Given the description of an element on the screen output the (x, y) to click on. 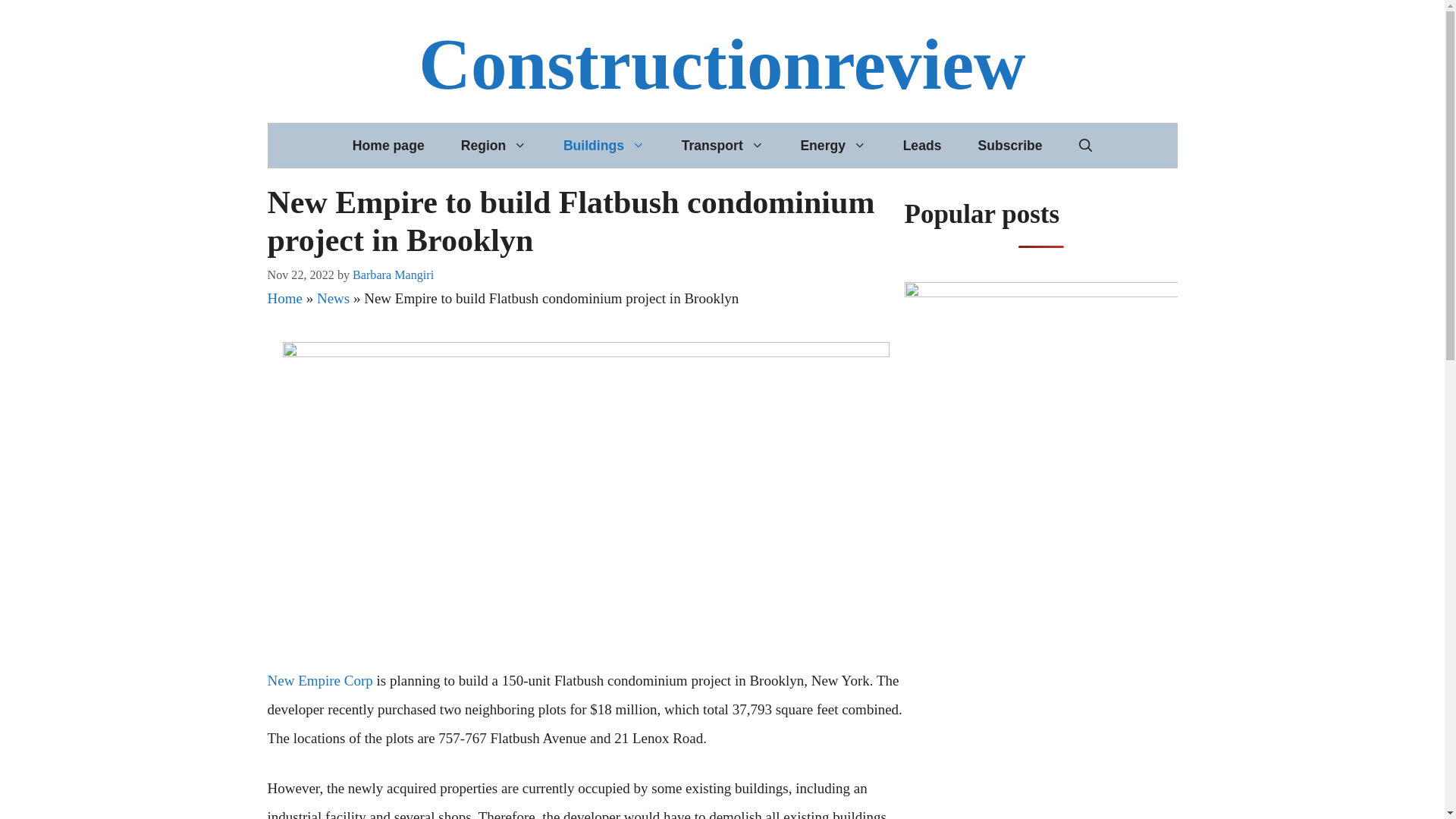
View all posts by Barbara Mangiri (392, 274)
Constructionreview (722, 64)
Subscribe (1009, 145)
Home page (388, 145)
Leads (922, 145)
Region (493, 145)
Energy (832, 145)
Transport (723, 145)
Buildings (603, 145)
